Given the description of an element on the screen output the (x, y) to click on. 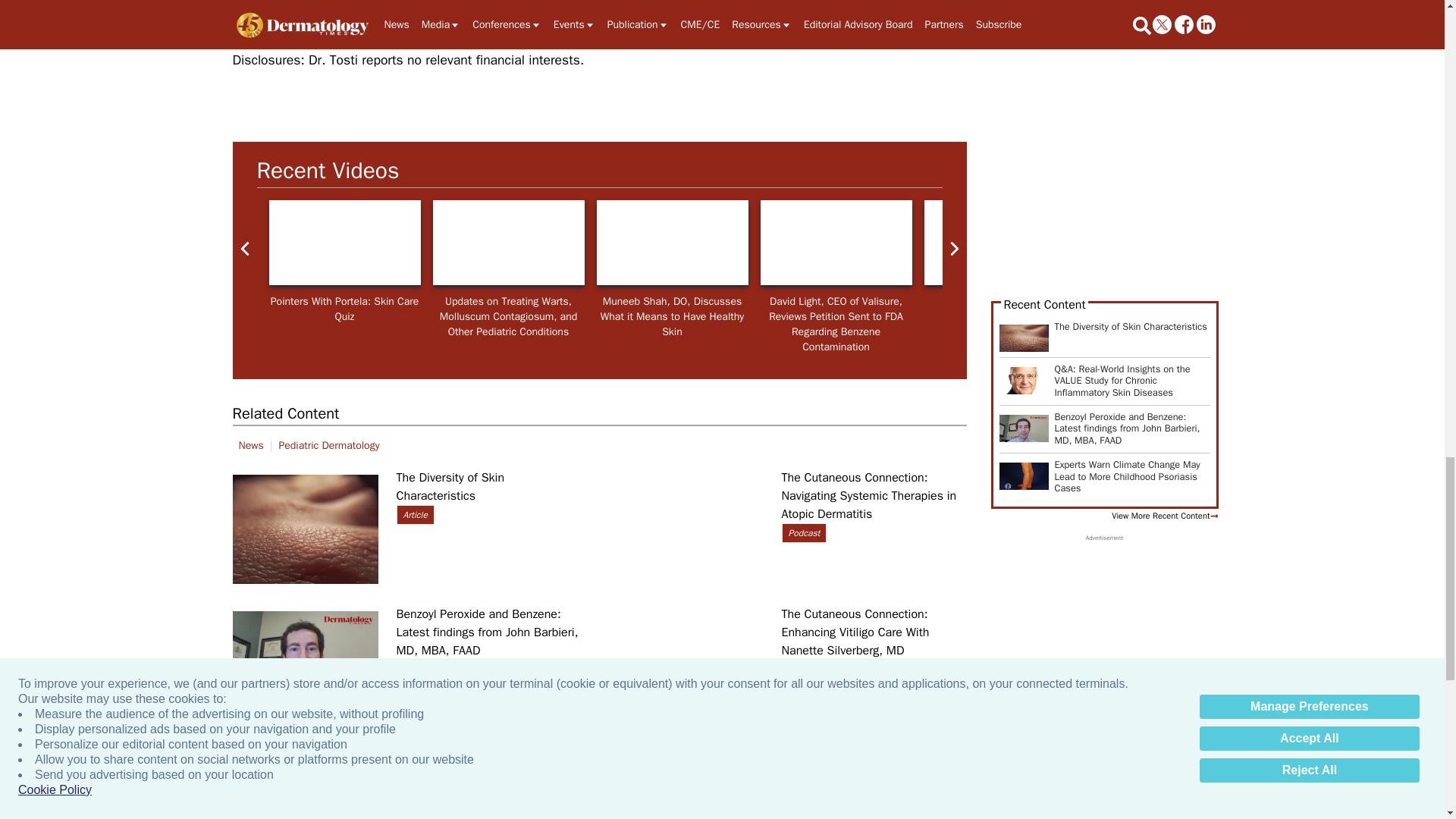
Pointers With Portela: Dermarolling  (999, 242)
Pointers With Portela: Skin Care Quiz  (343, 242)
